Given the description of an element on the screen output the (x, y) to click on. 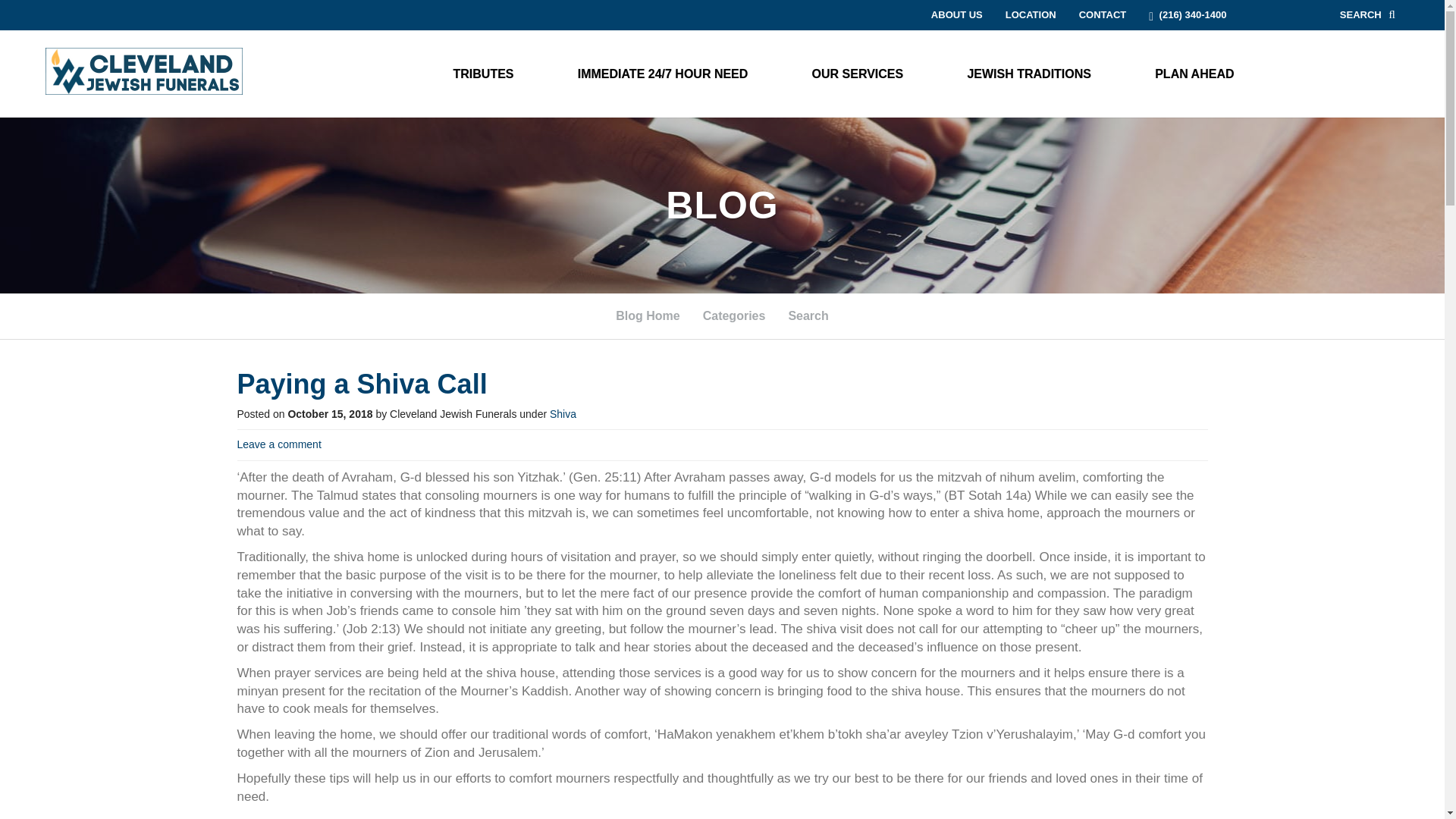
Categories (734, 316)
LOCATION (1031, 14)
ABOUT US (956, 14)
SEARCH (1367, 15)
TRIBUTES (482, 73)
PLAN AHEAD (1193, 73)
CONTACT (1102, 14)
OUR SERVICES (858, 73)
JEWISH TRADITIONS (1028, 73)
Blog Home (647, 316)
